Given the description of an element on the screen output the (x, y) to click on. 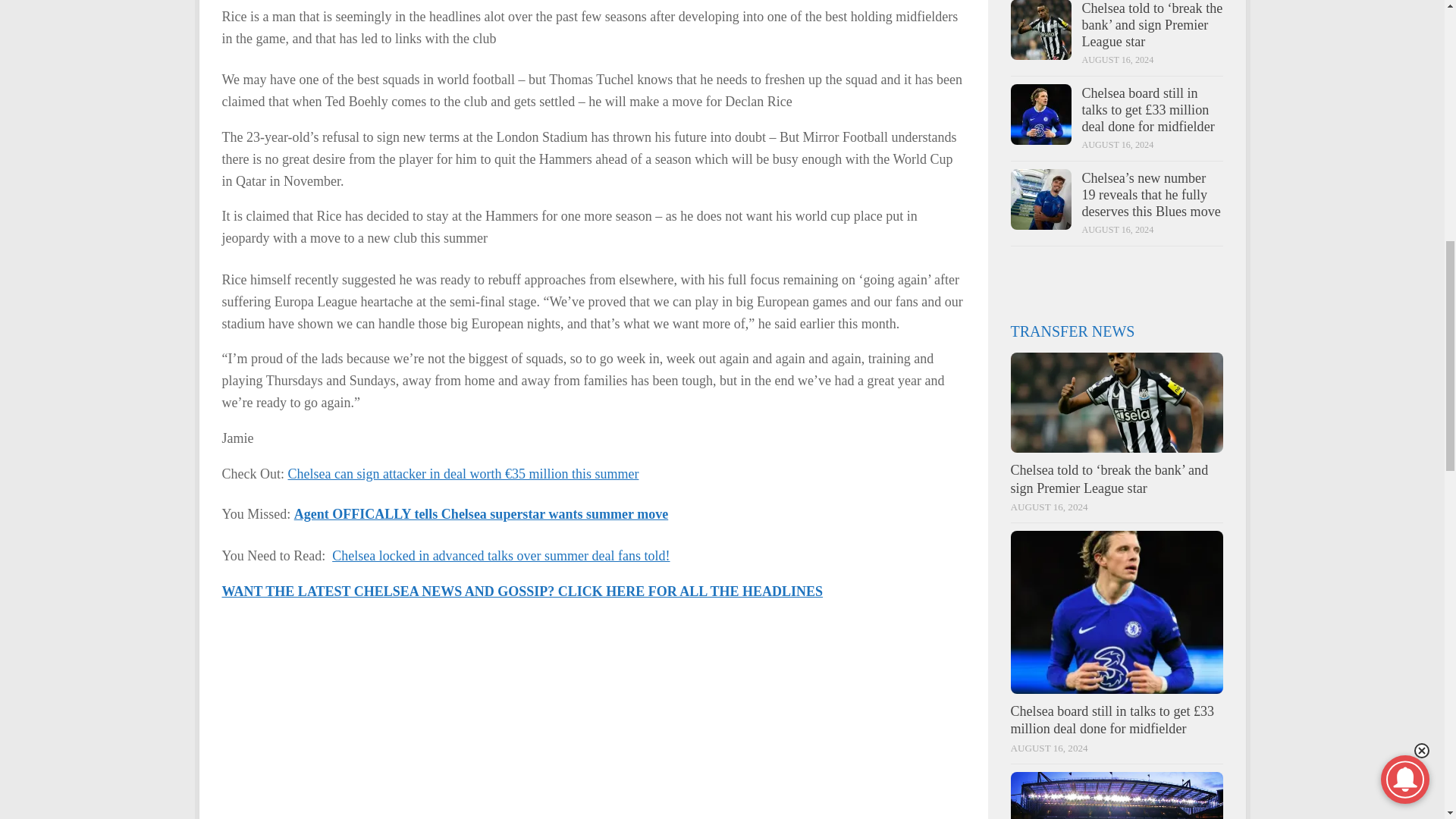
Agent OFFICALLY tells Chelsea superstar wants summer move (481, 513)
Chelsea locked in advanced talks over summer deal fans told! (500, 555)
